Given the description of an element on the screen output the (x, y) to click on. 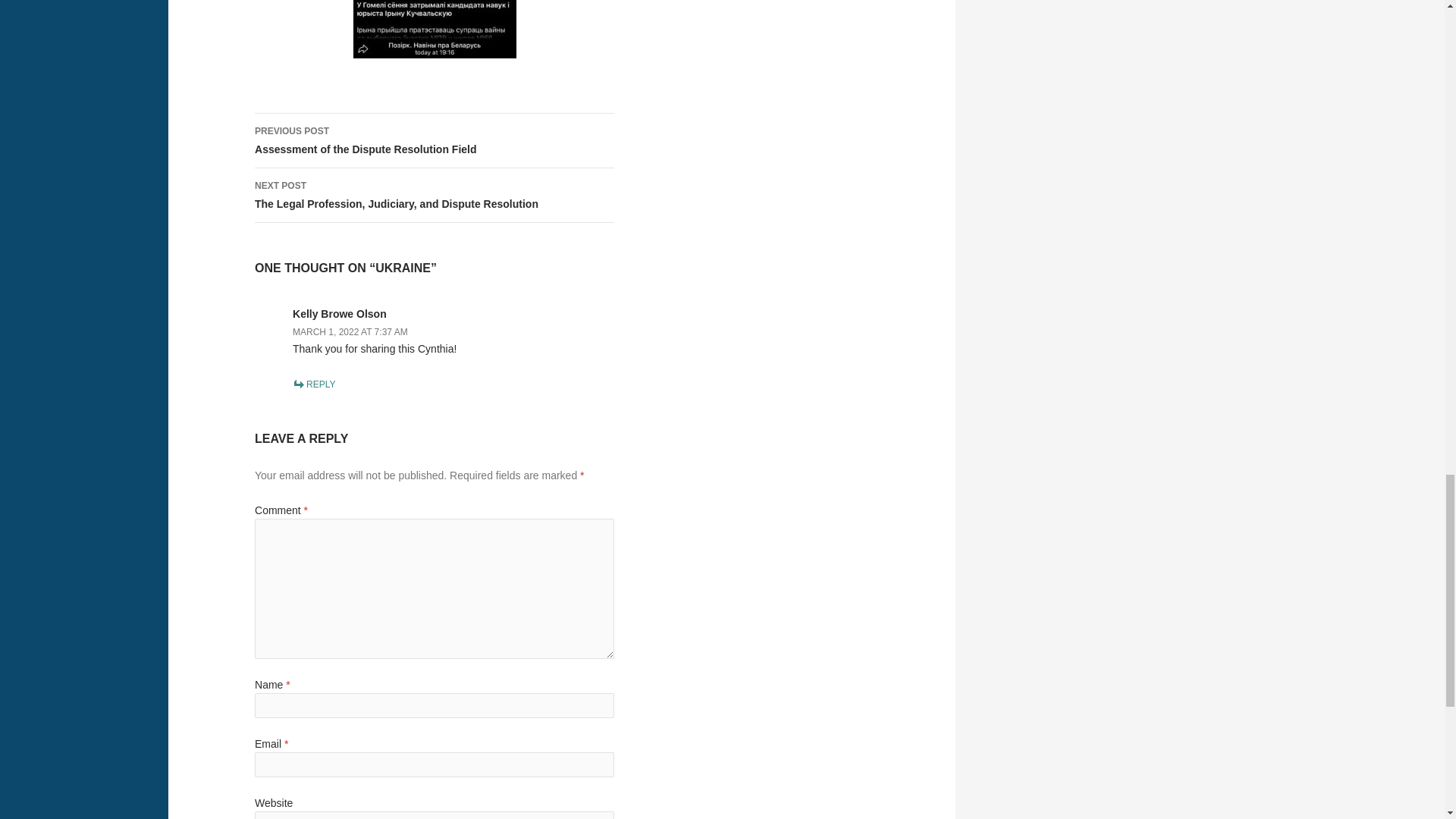
REPLY (434, 140)
MARCH 1, 2022 AT 7:37 AM (313, 384)
